Given the description of an element on the screen output the (x, y) to click on. 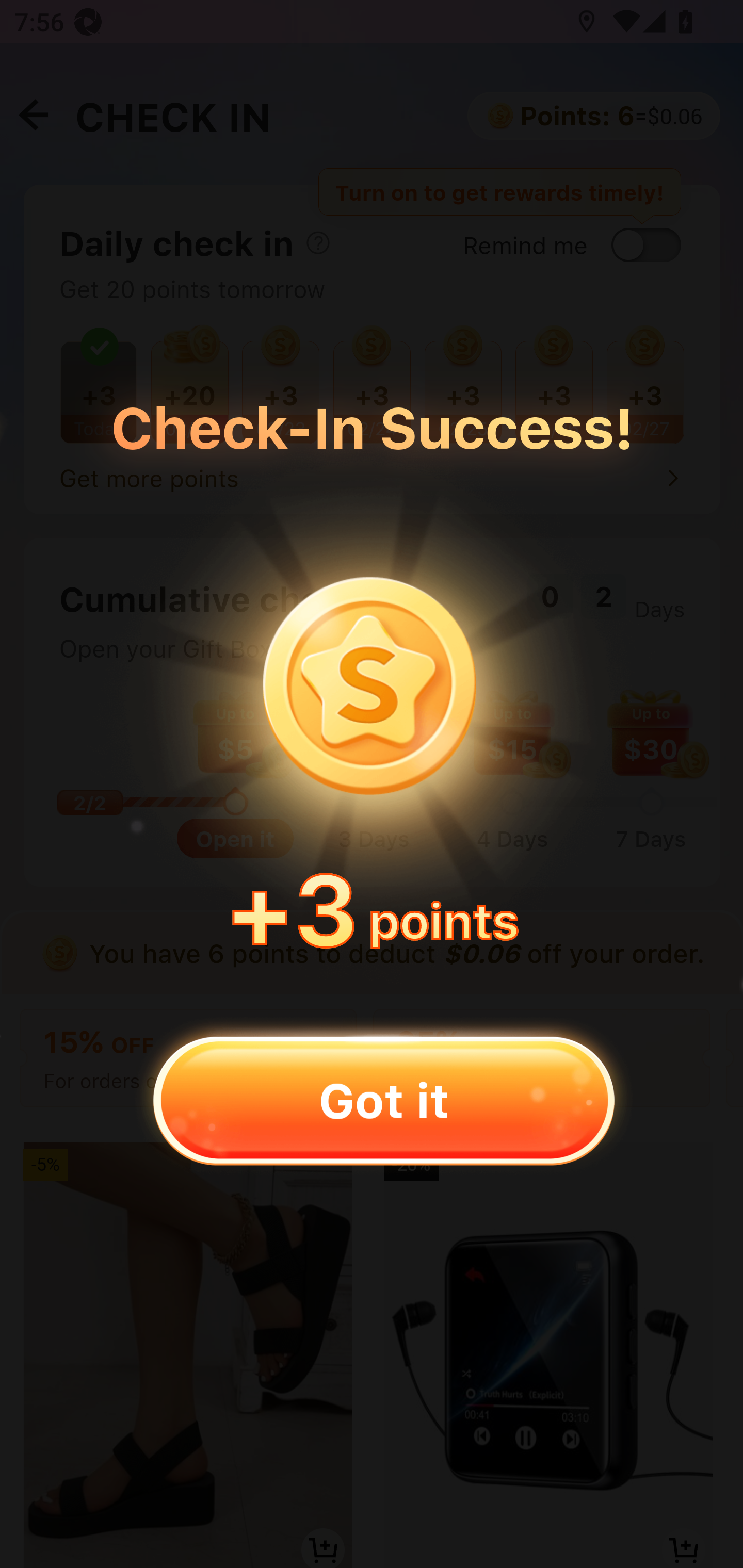
Got it (383, 1099)
